Given the description of an element on the screen output the (x, y) to click on. 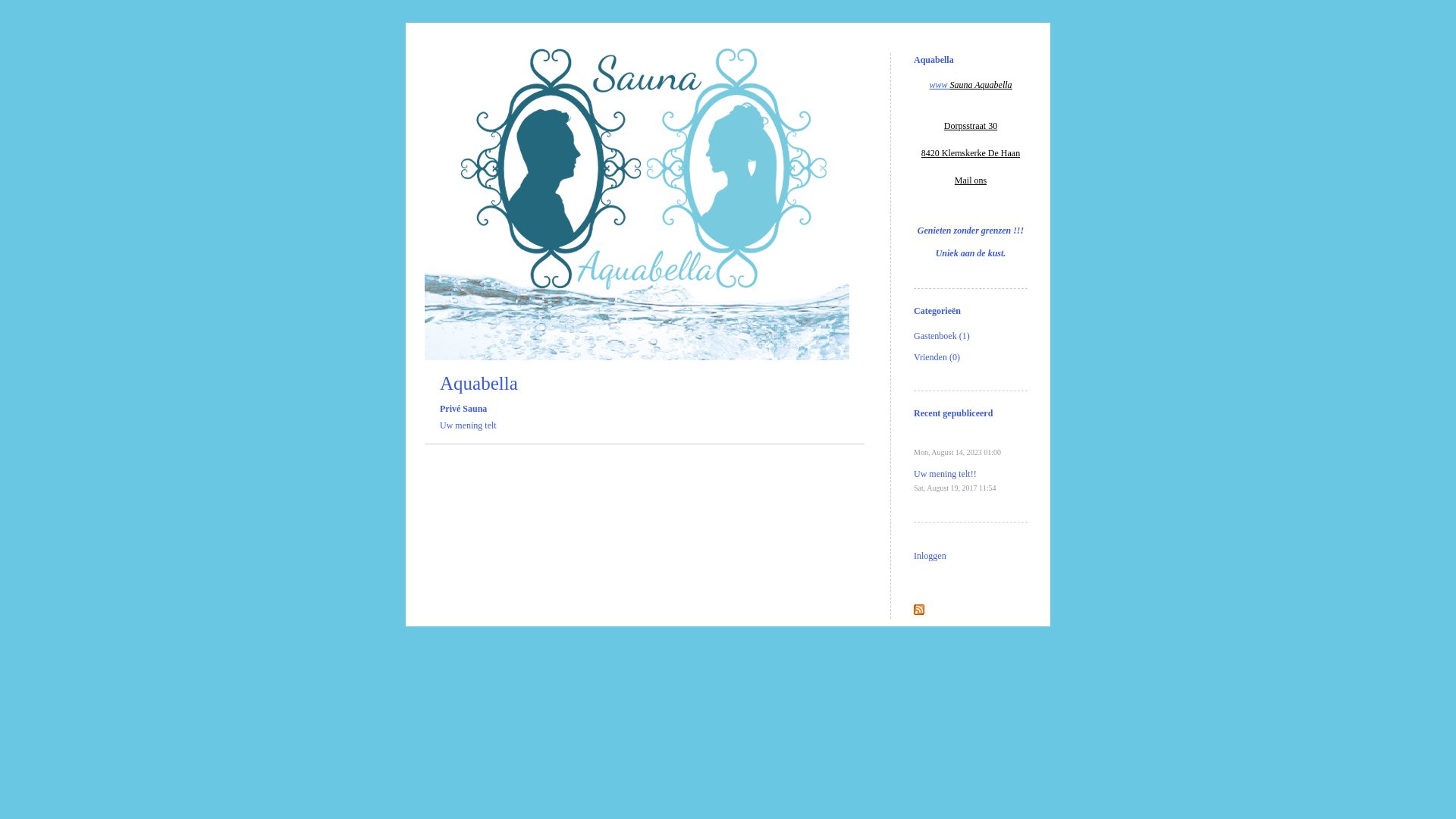
Inloggen Element type: text (929, 555)
Uw mening telt!!
Sat, August 19, 2017 11:54 Element type: text (954, 480)
Vrienden (0) Element type: text (936, 356)
Mon, August 14, 2023 01:00 Element type: text (957, 458)
Aquabella Element type: text (478, 383)
Dorpsstraat 30

8420 Klemskerke De Haan Element type: text (970, 139)
Mail ons Element type: text (970, 180)
Gastenboek (1) Element type: text (941, 335)
Sauna Aquabella Element type: text (980, 84)
RSS 2.0 Element type: hover (918, 611)
